Given the description of an element on the screen output the (x, y) to click on. 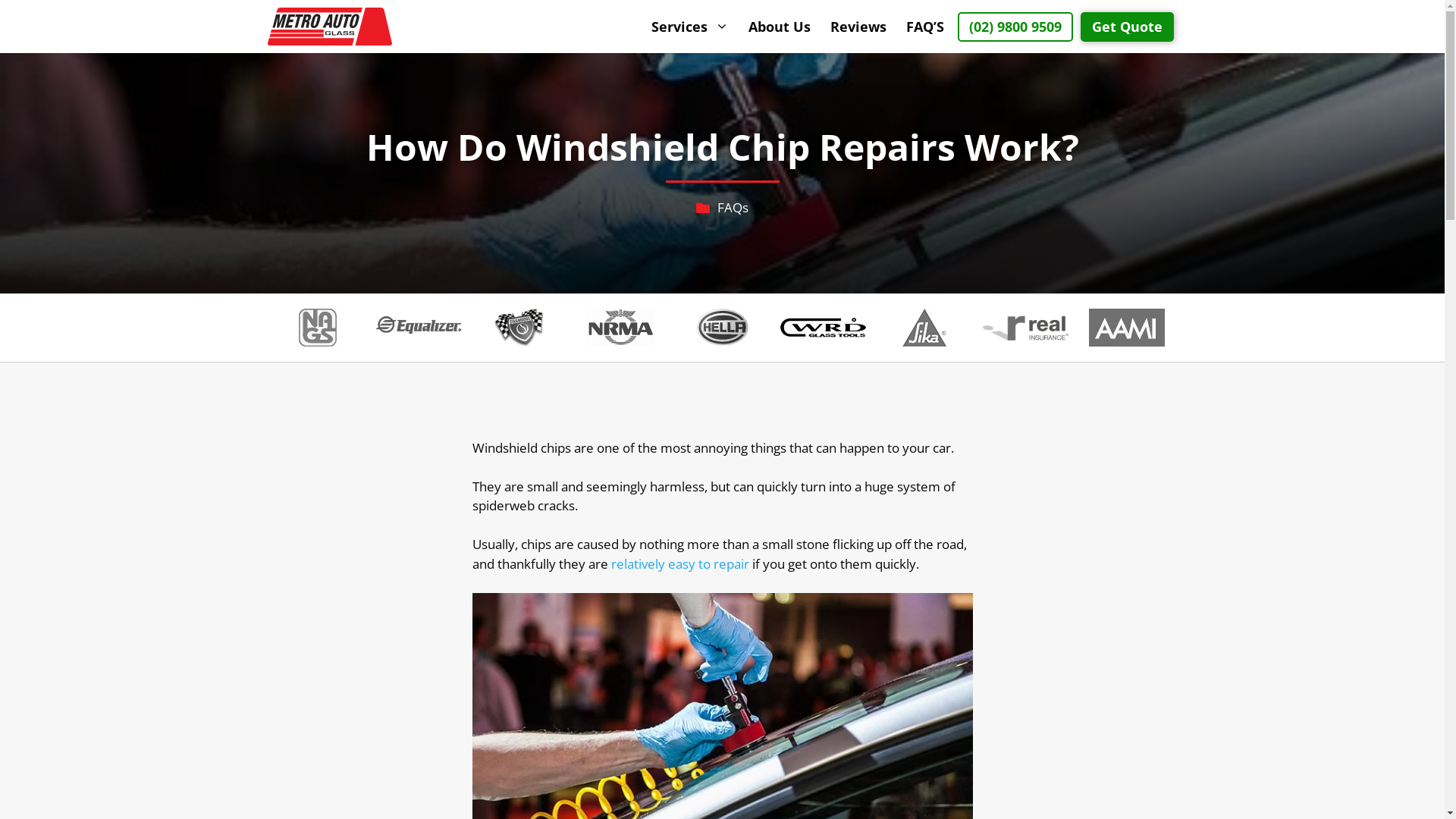
relatively easy to repair Element type: text (680, 563)
About Us Element type: text (779, 26)
Reviews Element type: text (858, 26)
FAQs Element type: text (732, 207)
Metro Auto Glass Element type: hover (332, 26)
Services Element type: text (689, 26)
(02) 9800 9509 Element type: text (1014, 26)
Get Quote Element type: text (1126, 26)
Metro Auto Glass Element type: hover (329, 26)
